Given the description of an element on the screen output the (x, y) to click on. 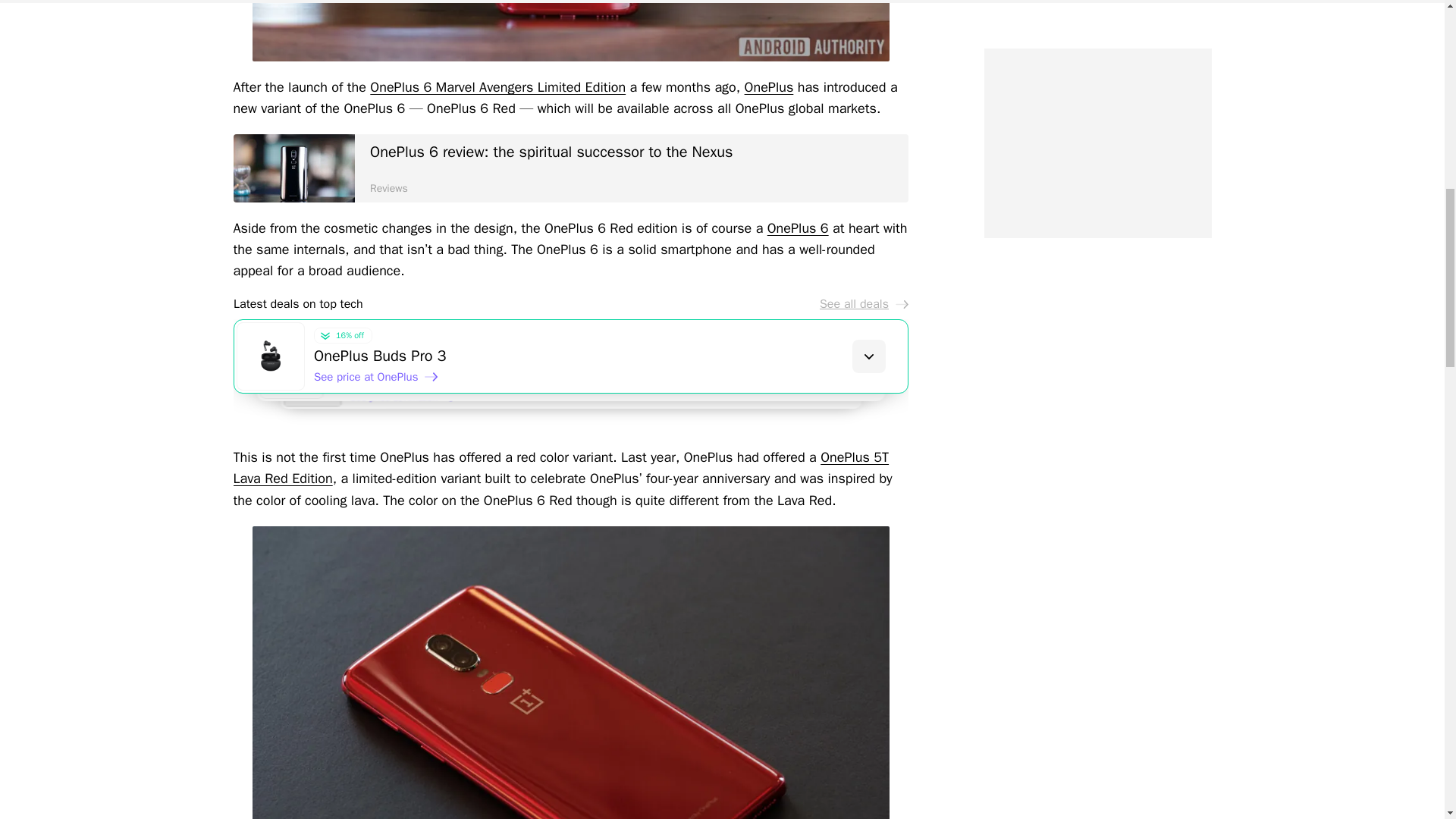
OnePlus Buds Pro 3 (609, 355)
OnePlus (768, 86)
See price at OnePlus (376, 376)
See price at Amazon (391, 389)
OnePlus 6 Marvel Avengers Limited Edition (497, 86)
See price at Amazon (409, 402)
See all deals (862, 304)
OnePlus 6 (797, 228)
OnePlus 12 (627, 373)
